Given the description of an element on the screen output the (x, y) to click on. 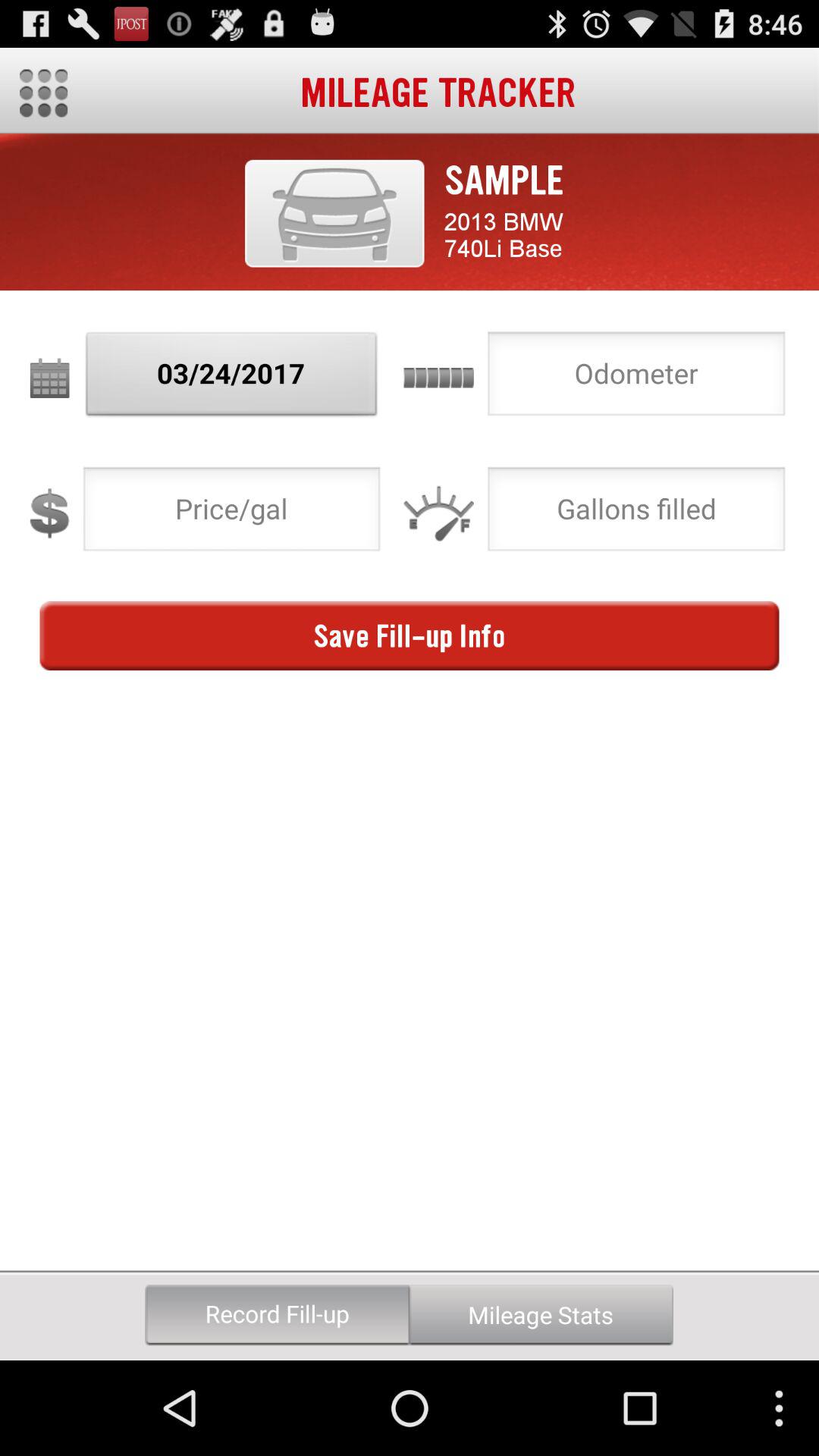
turn off the item next to the mileage tracker (43, 93)
